Given the description of an element on the screen output the (x, y) to click on. 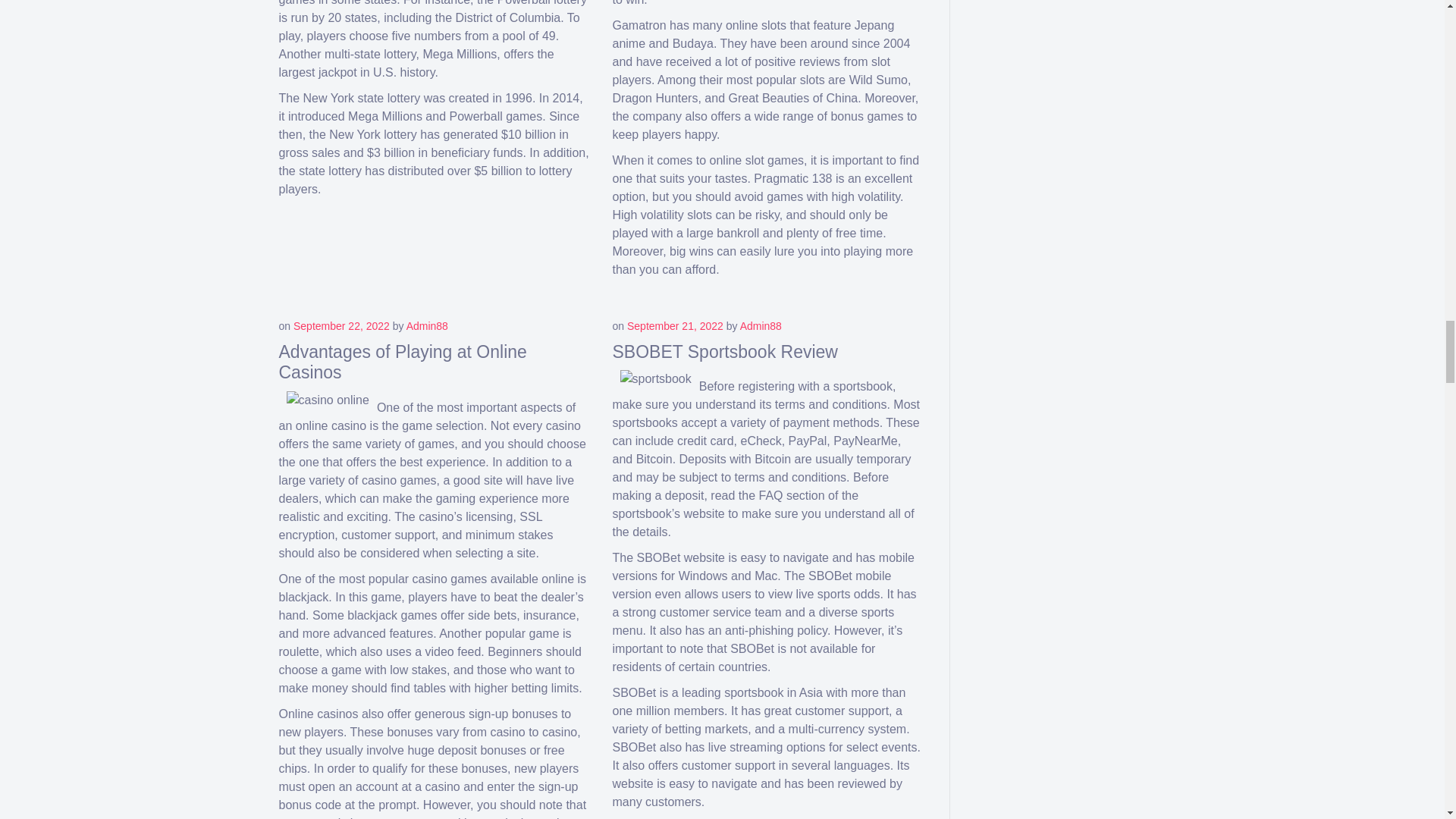
Admin88 (427, 326)
Admin88 (760, 326)
September 22, 2022 (342, 326)
Advantages of Playing at Online Casinos (403, 362)
SBOBET Sportsbook Review (725, 351)
September 21, 2022 (675, 326)
